Given the description of an element on the screen output the (x, y) to click on. 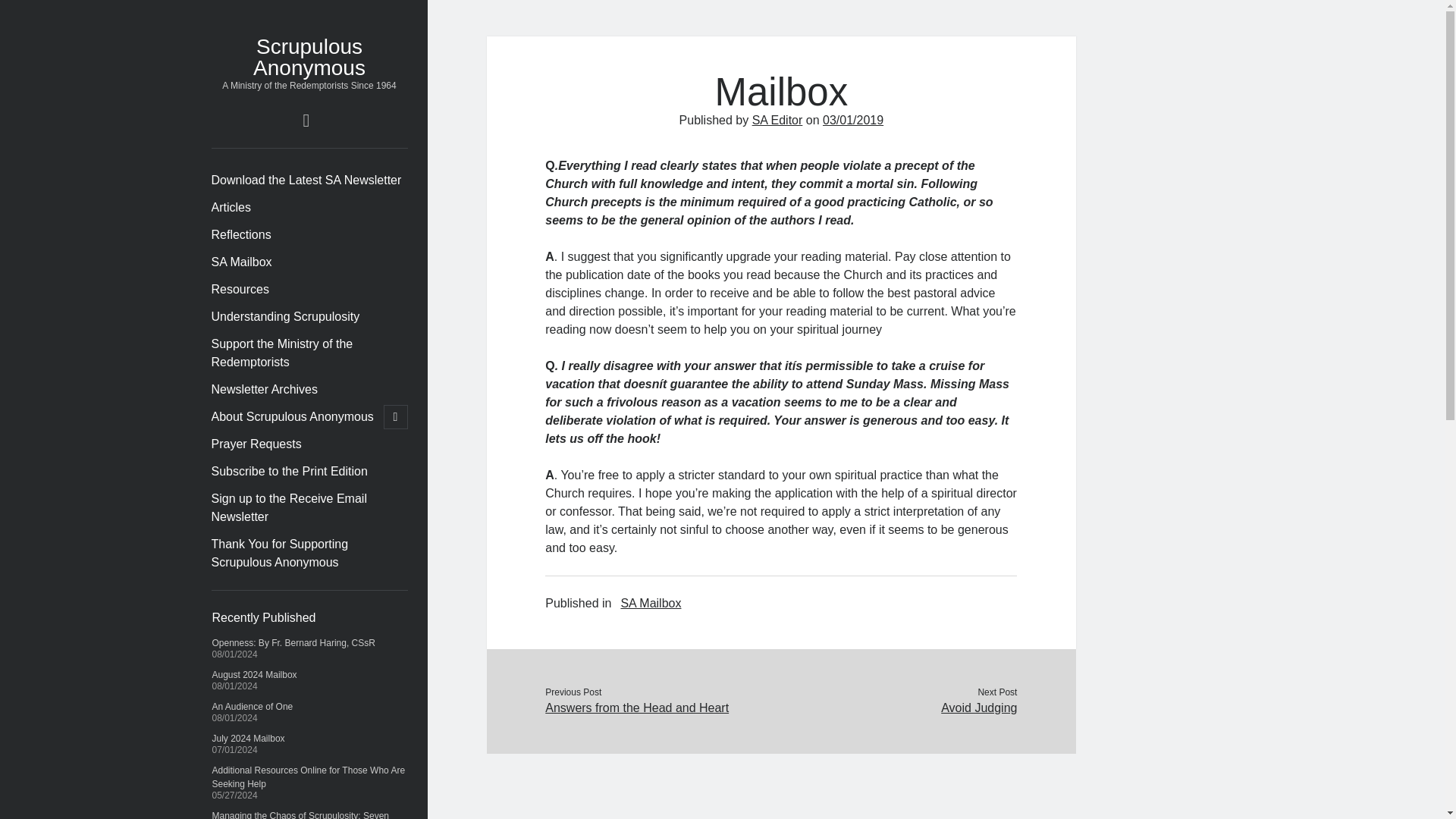
Sign up to the Receive Email Newsletter (309, 507)
Reflections (240, 235)
Prayer Requests (256, 443)
Resources (239, 289)
SA Editor (777, 119)
Thank You for Supporting Scrupulous Anonymous (309, 553)
Newsletter Archives (264, 389)
Support the Ministry of the Redemptorists (309, 352)
SA Mailbox (240, 262)
Understanding Scrupulosity (285, 316)
Additional Resources Online for Those Who Are Seeking Help (309, 776)
Scrupulous Anonymous (309, 57)
Articles (230, 208)
Openness: By Fr. Bernard Haring, CSsR (293, 643)
View all posts in SA Mailbox (650, 603)
